Given the description of an element on the screen output the (x, y) to click on. 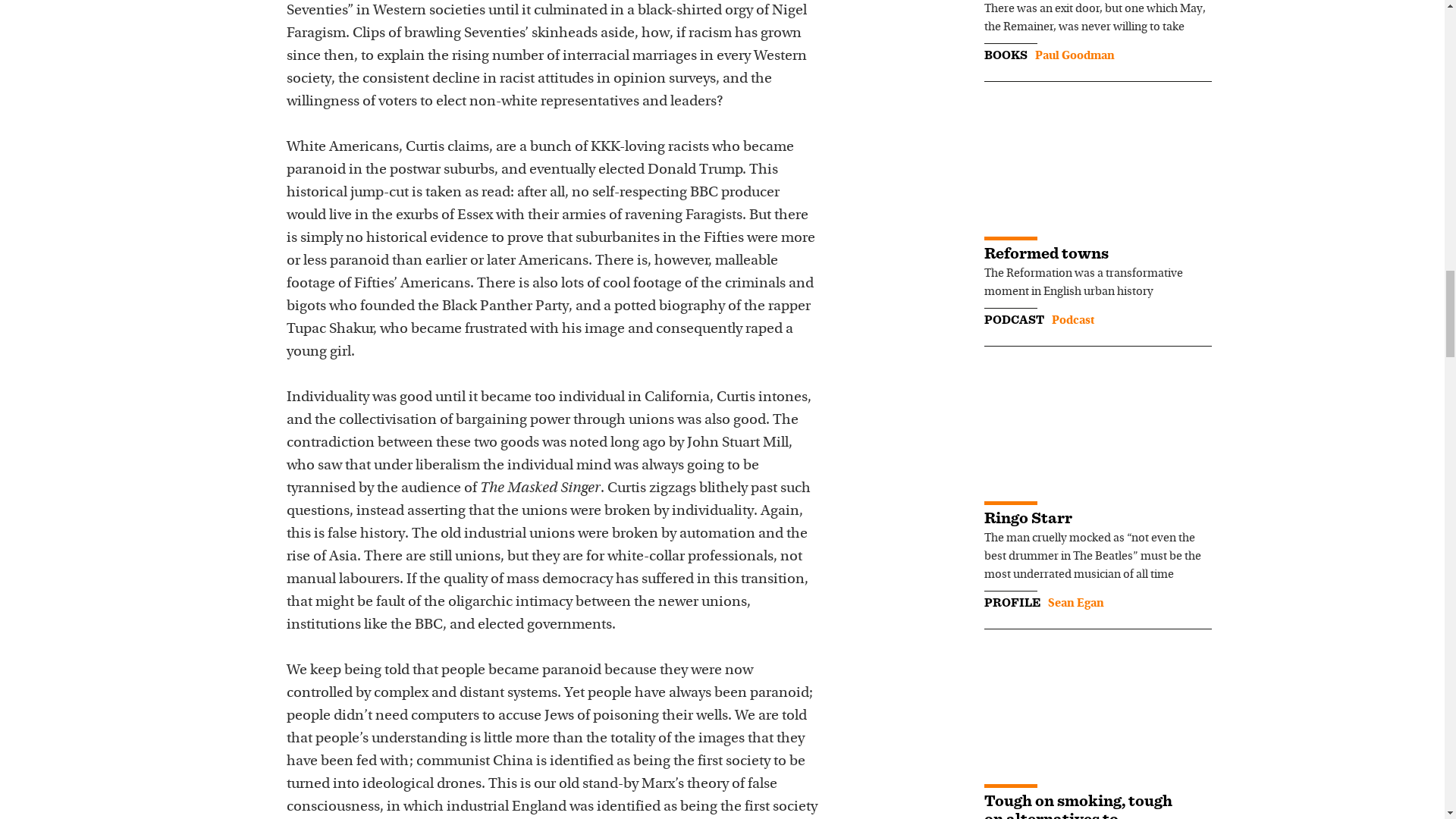
Posts by Paul Goodman (1073, 55)
Posts by Sean Egan (1075, 603)
Posts by Podcast (1072, 320)
